Given the description of an element on the screen output the (x, y) to click on. 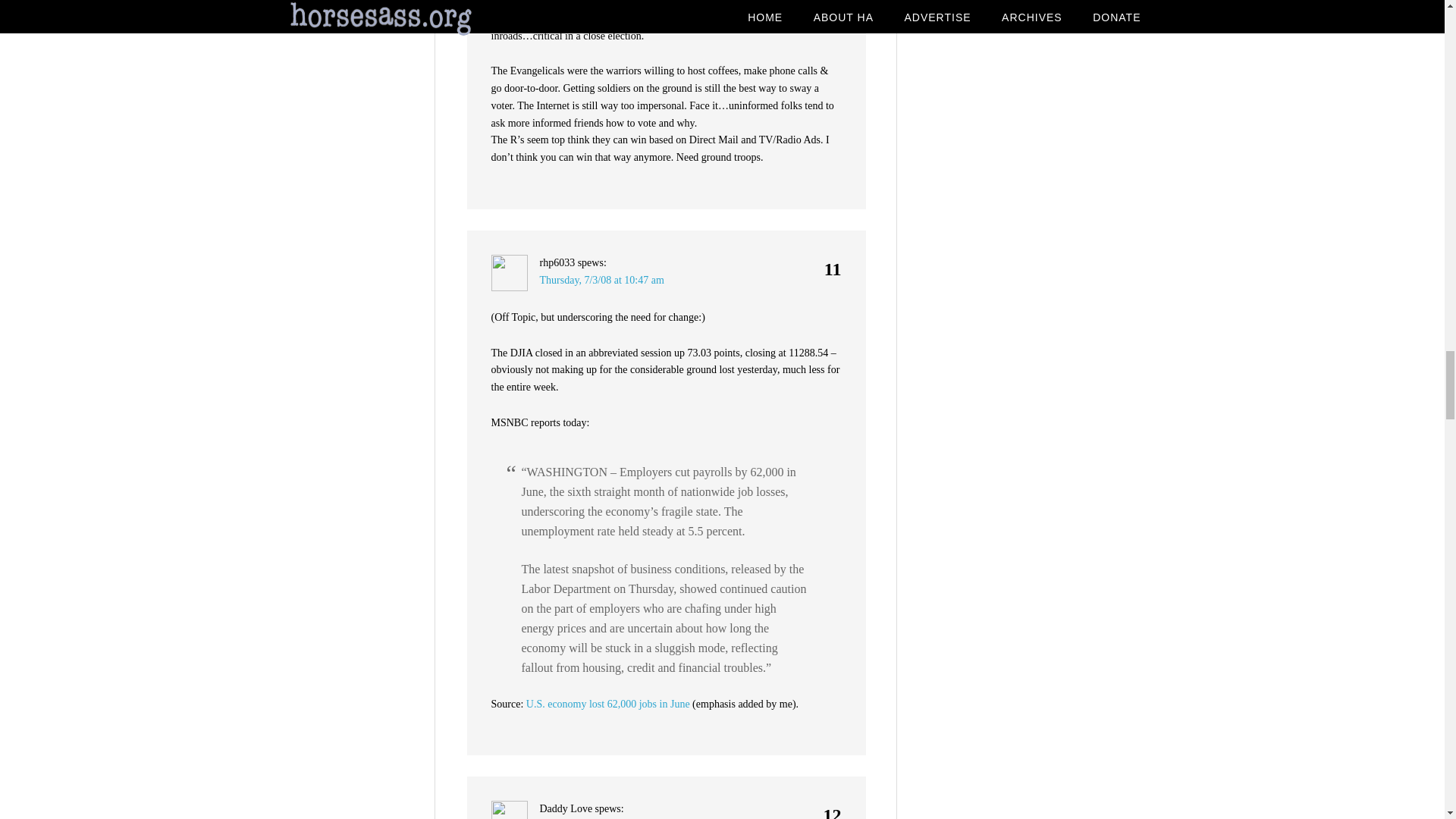
U.S. economy lost 62,000 jobs in June (607, 704)
